Given the description of an element on the screen output the (x, y) to click on. 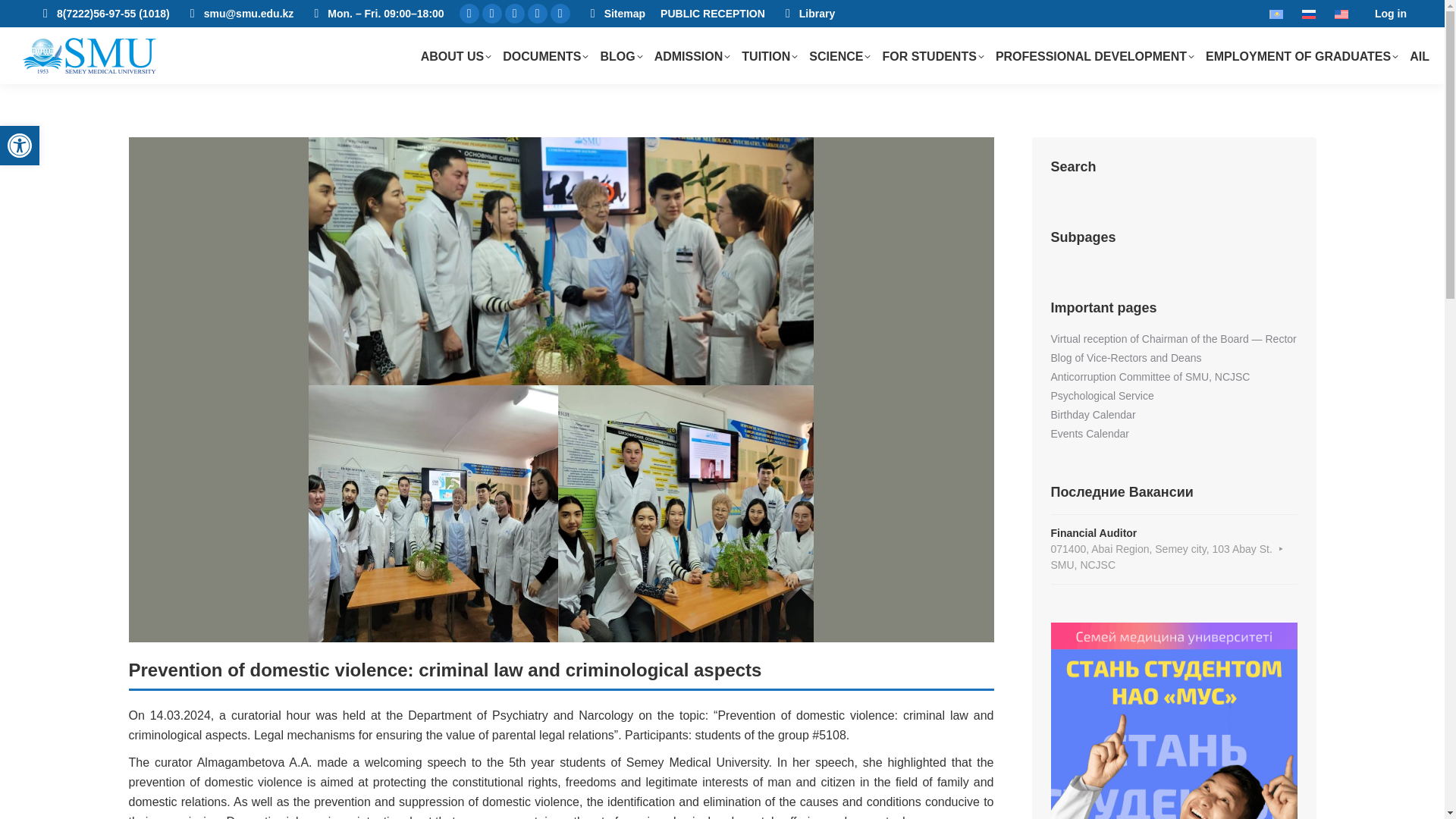
Accessibility Tools (19, 145)
Linkedin page opens in new window (560, 13)
Log in (1390, 13)
Facebook page opens in new window (469, 13)
YouTube page opens in new window (491, 13)
Accessibility Tools (19, 145)
Library (807, 13)
Telegram page opens in new window (19, 145)
PUBLIC RECEPTION (537, 13)
